Given the description of an element on the screen output the (x, y) to click on. 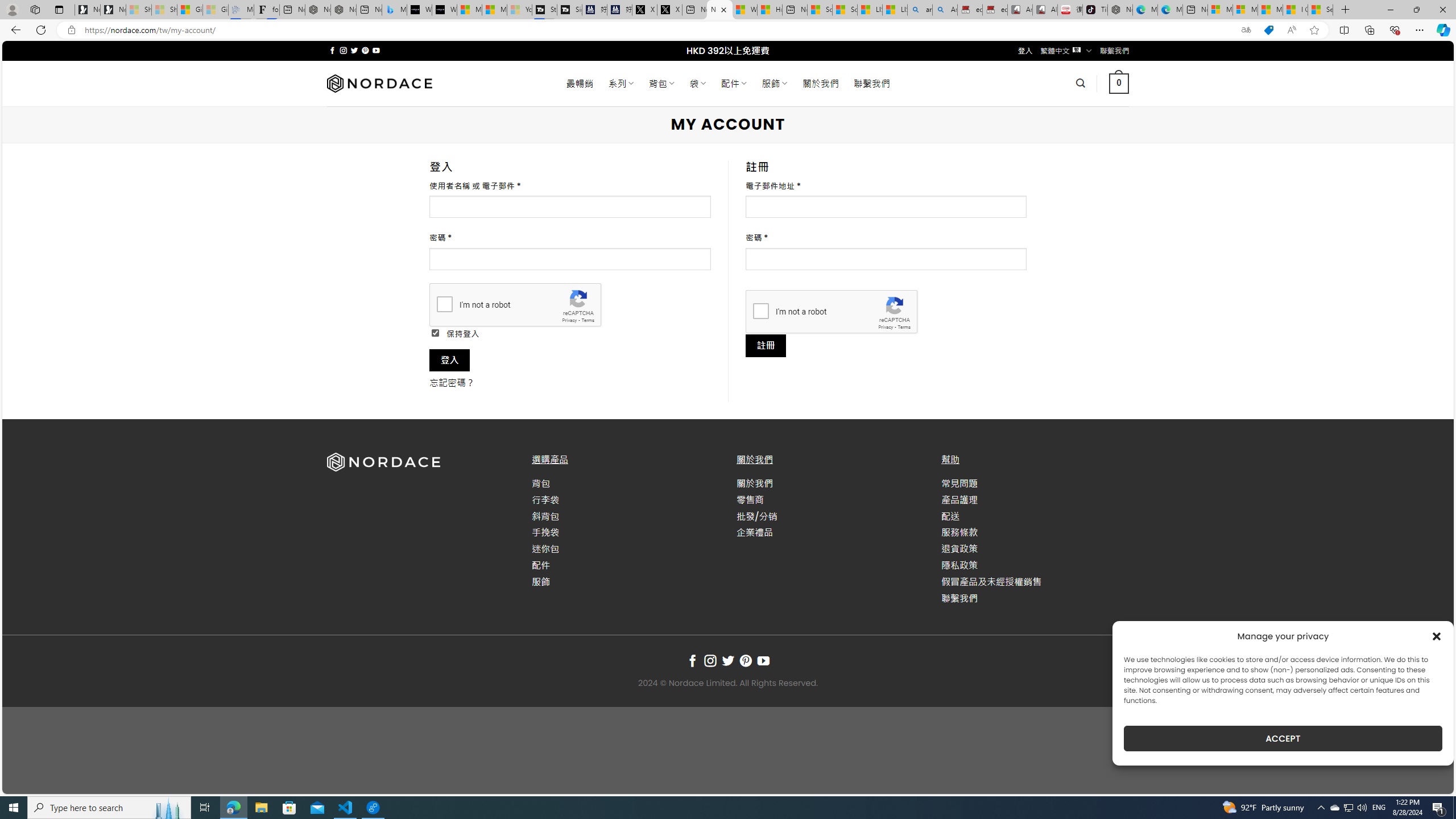
Add this page to favorites (Ctrl+D) (1314, 29)
Tab actions menu (58, 9)
Follow on YouTube (763, 660)
Read aloud this page (Ctrl+Shift+U) (1291, 29)
